Given the description of an element on the screen output the (x, y) to click on. 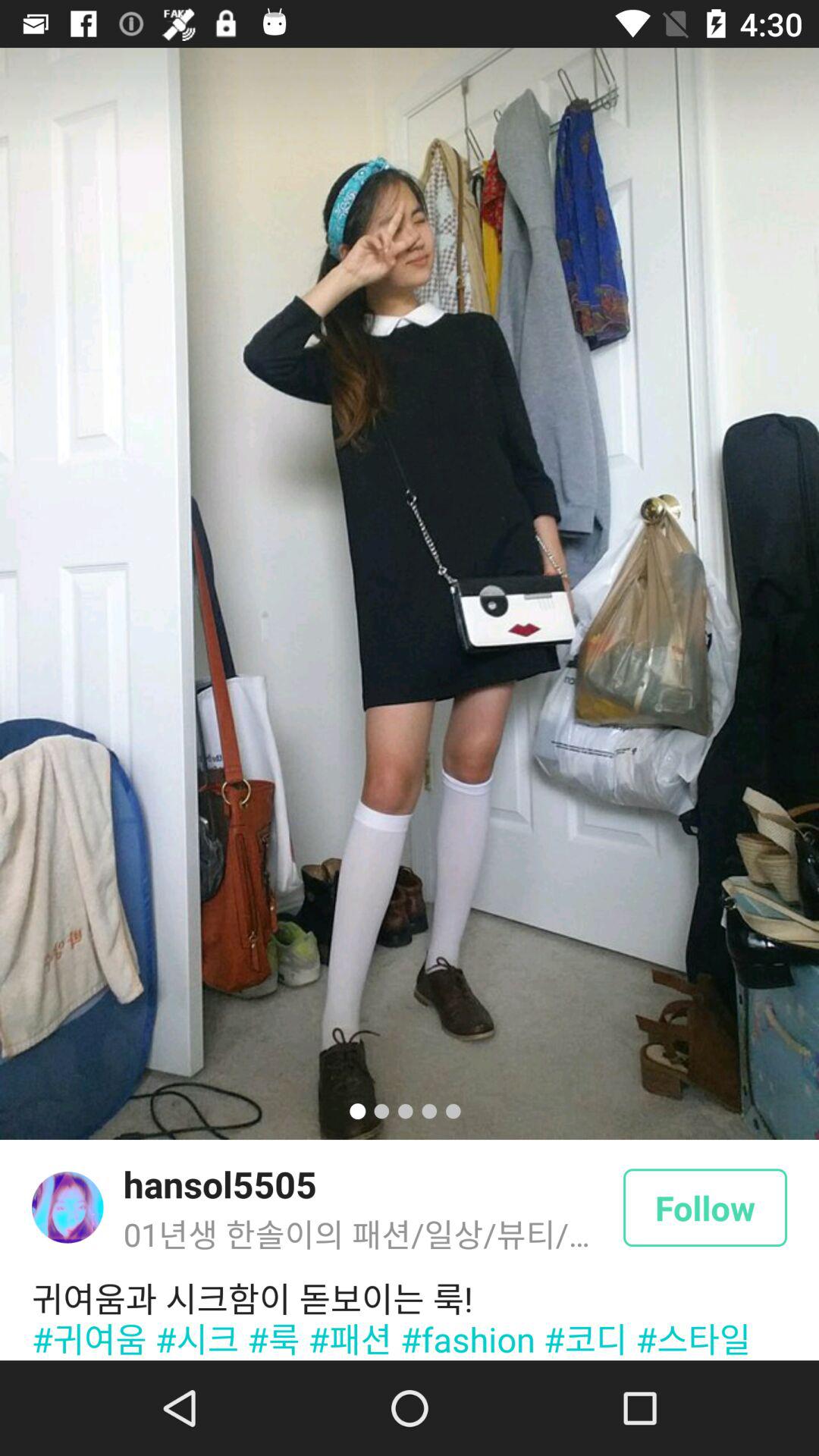
tap the hansol5505 item (219, 1183)
